Given the description of an element on the screen output the (x, y) to click on. 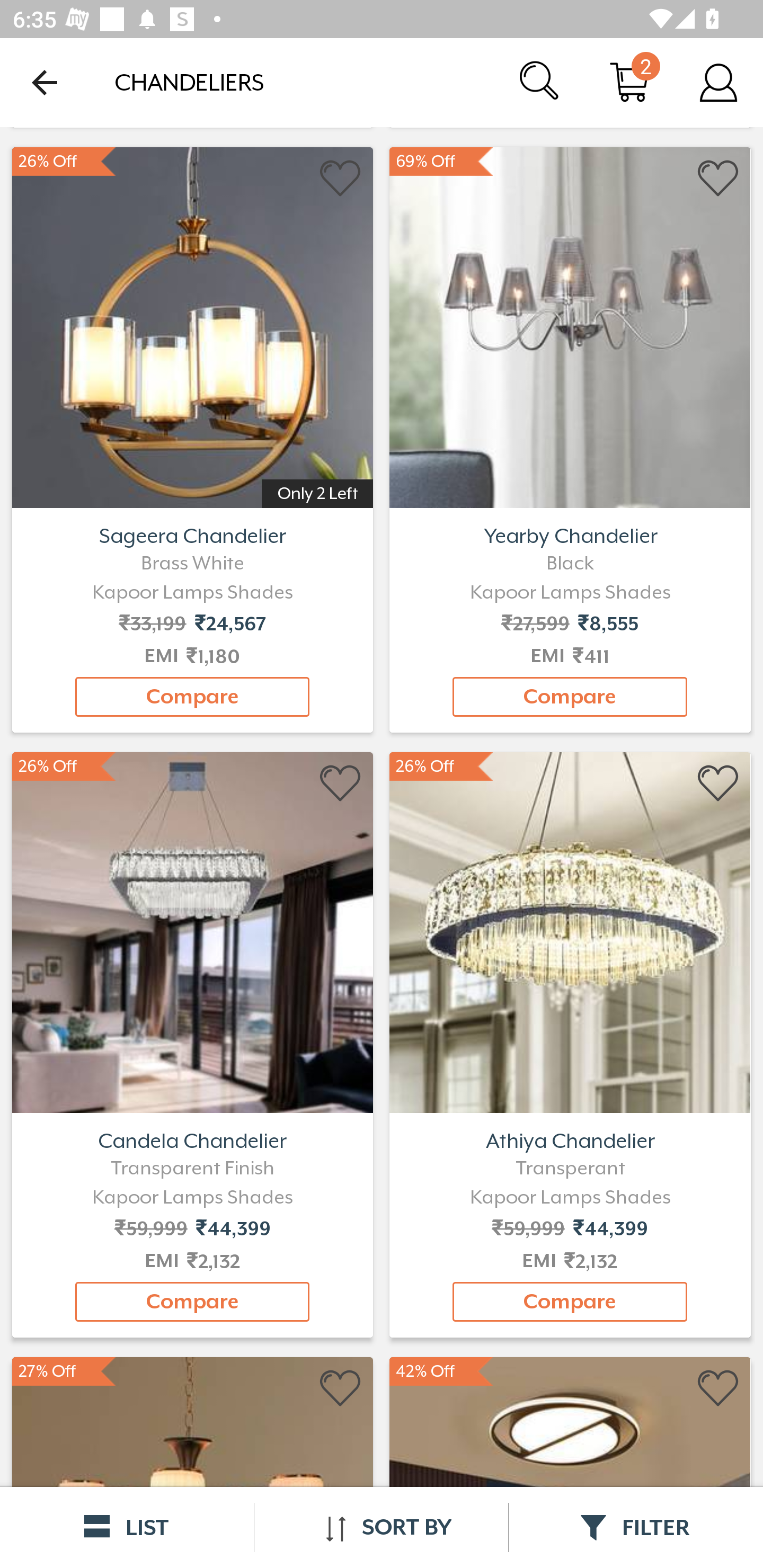
Navigate up (44, 82)
Search (540, 81)
Cart (629, 81)
Account Details (718, 81)
1574+ options Floor Lamps Starting from  ₹1,247 (191, 318)
2354+ options Table Lamps Starting from  ₹630 (570, 318)
 (341, 178)
 (718, 178)
Compare (192, 696)
Compare (569, 696)
 (341, 783)
 (718, 783)
Compare (192, 1301)
Compare (569, 1301)
 (341, 1388)
 (718, 1388)
 LIST (127, 1527)
SORT BY (381, 1527)
 FILTER (635, 1527)
